Given the description of an element on the screen output the (x, y) to click on. 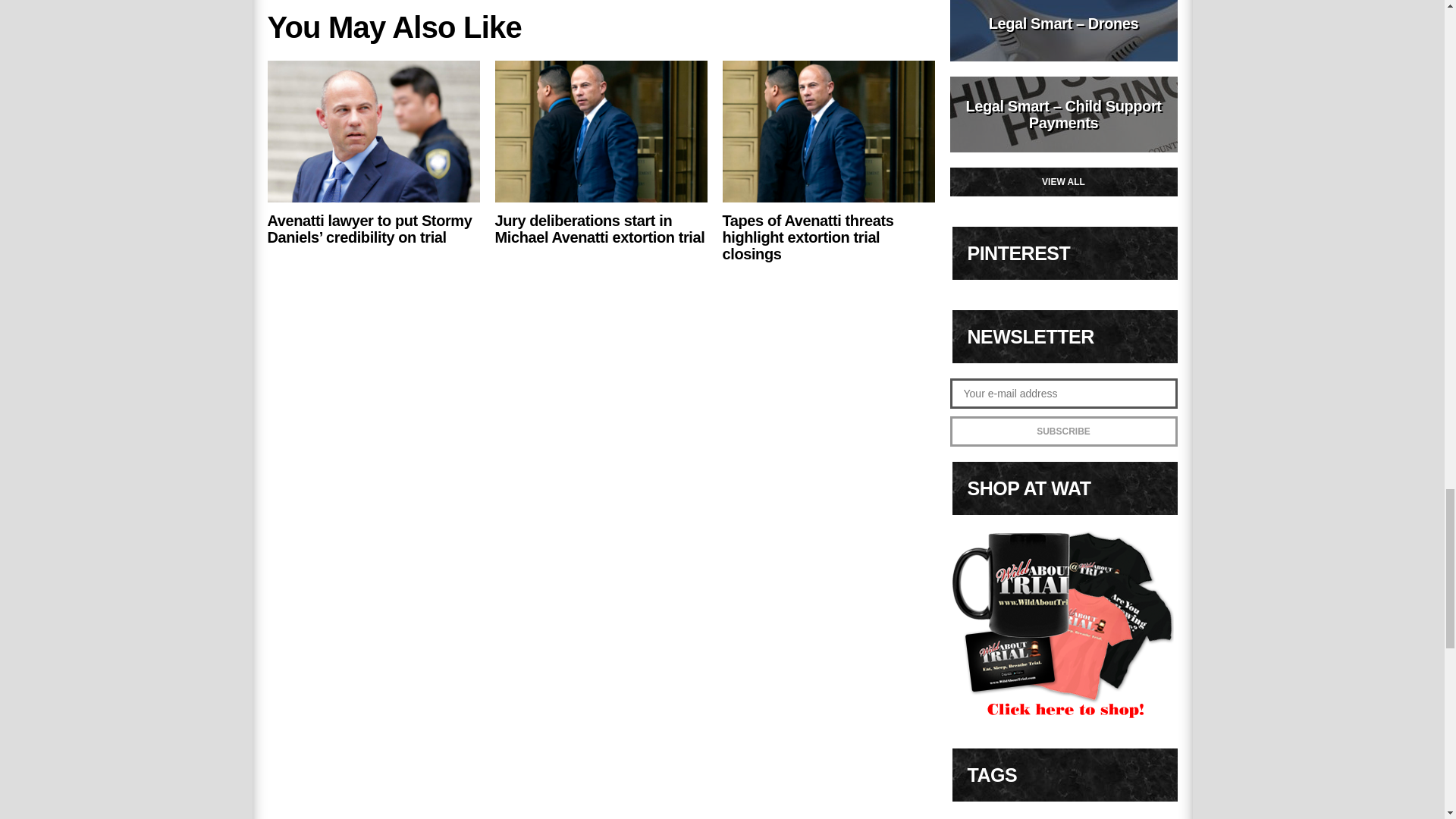
SUBSCRIBE (1062, 431)
